Given the description of an element on the screen output the (x, y) to click on. 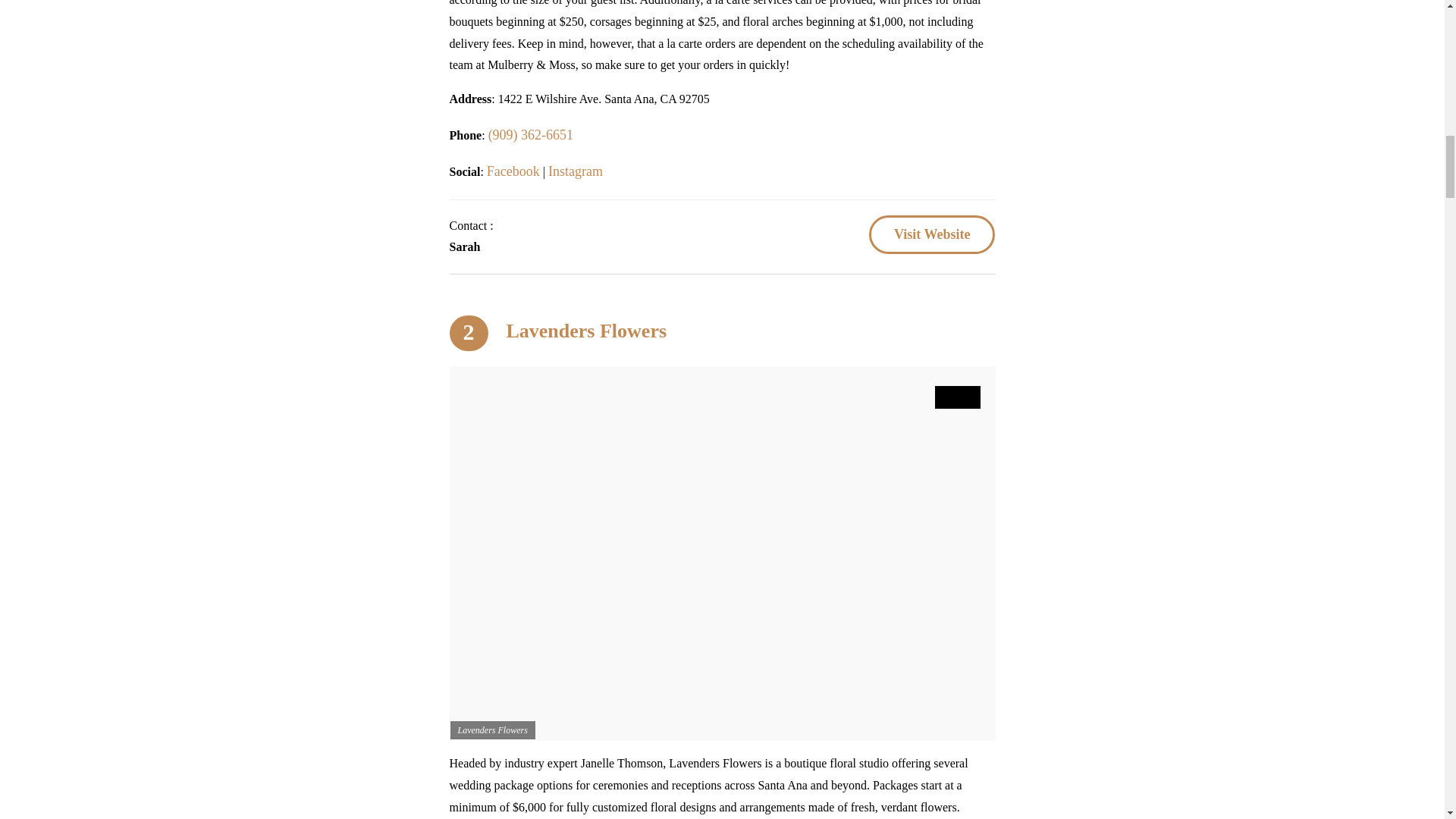
Instagram (575, 171)
Facebook (513, 171)
